Given the description of an element on the screen output the (x, y) to click on. 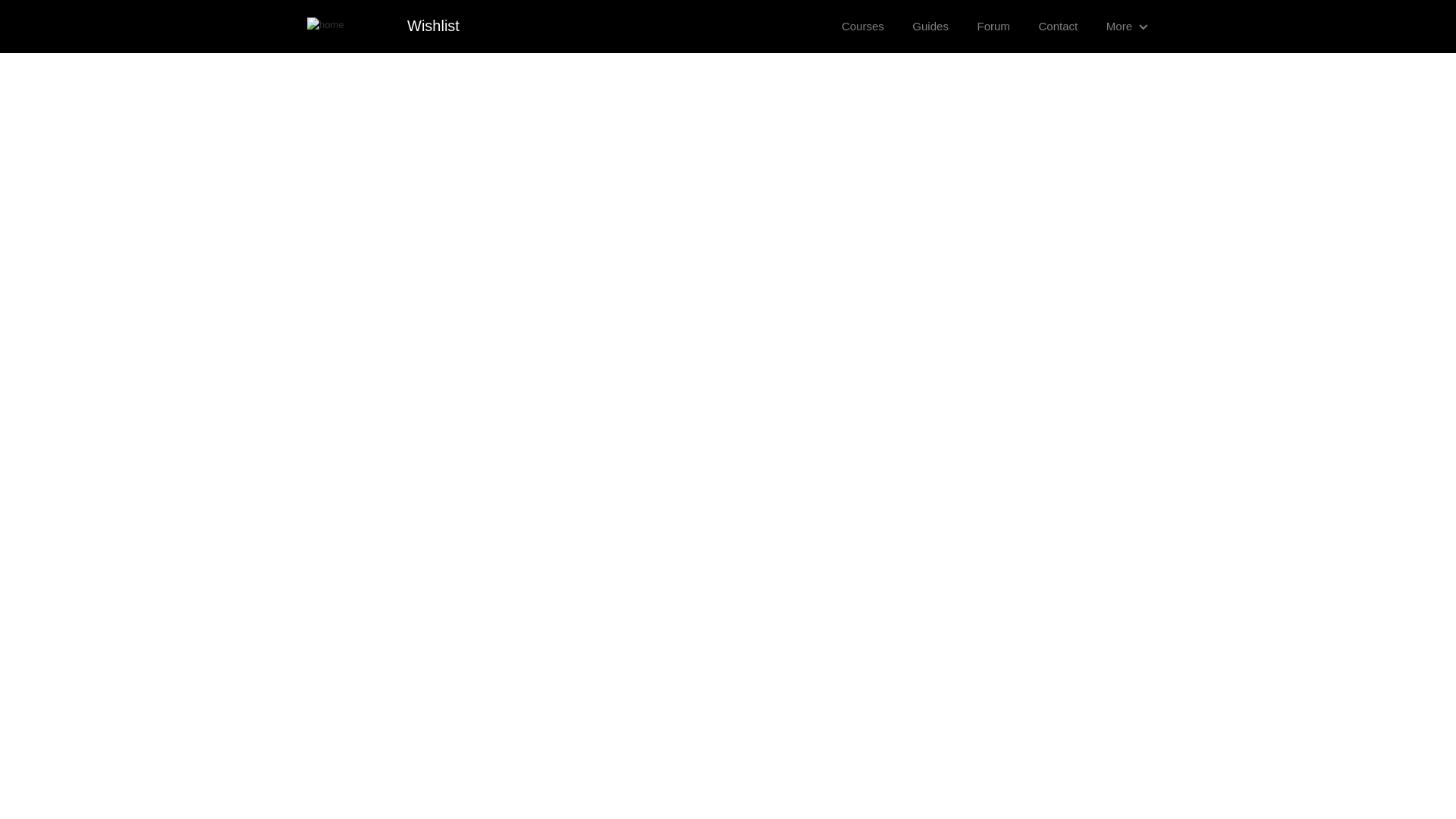
Forum (993, 26)
Wishlist (429, 25)
Courses (862, 26)
Contact (1057, 26)
Guides (929, 26)
